Given the description of an element on the screen output the (x, y) to click on. 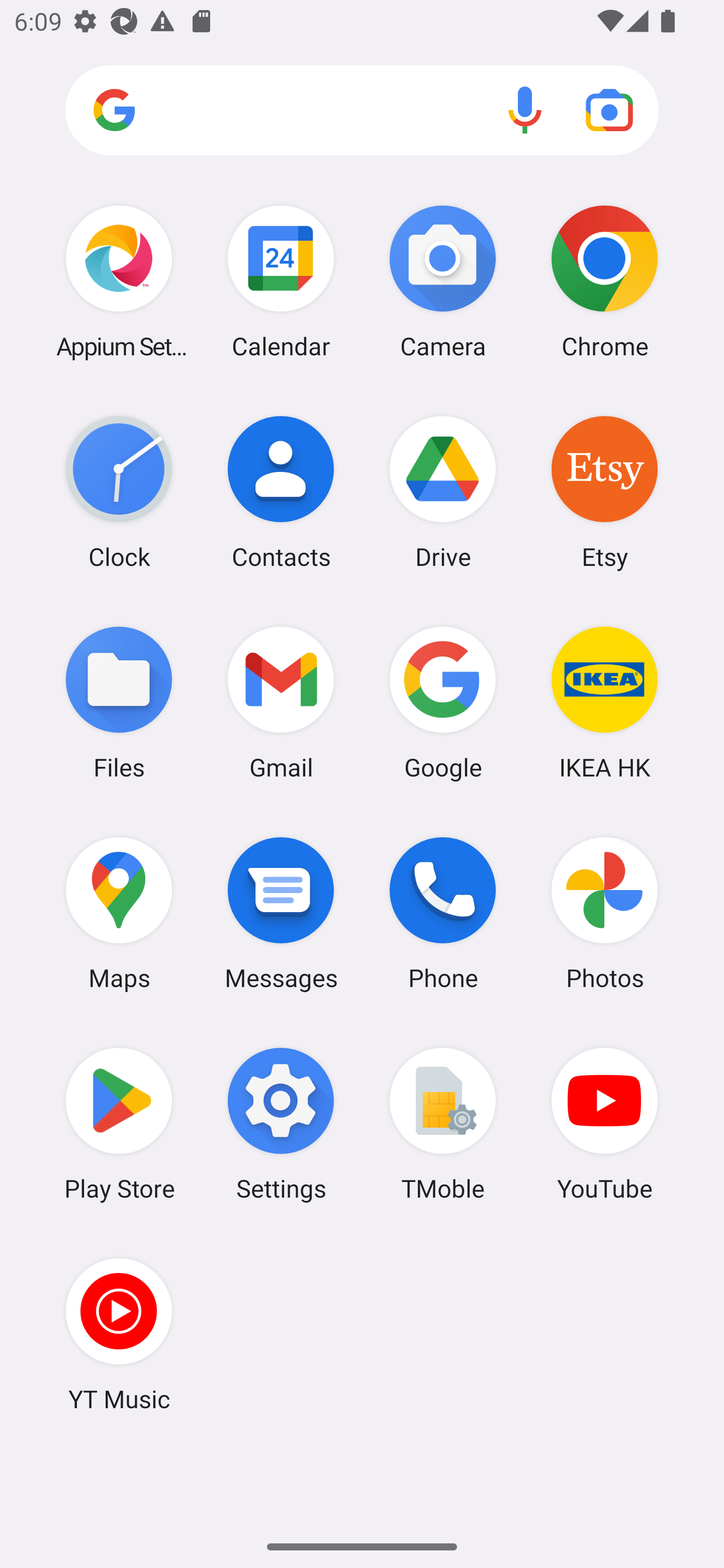
Search apps, web and more (361, 110)
Voice search (524, 109)
Google Lens (608, 109)
Appium Settings (118, 281)
Calendar (280, 281)
Camera (443, 281)
Chrome (604, 281)
Clock (118, 492)
Contacts (280, 492)
Drive (443, 492)
Etsy (604, 492)
Files (118, 702)
Gmail (280, 702)
Google (443, 702)
IKEA HK (604, 702)
Maps (118, 913)
Messages (280, 913)
Phone (443, 913)
Photos (604, 913)
Play Store (118, 1124)
Settings (280, 1124)
TMoble (443, 1124)
YouTube (604, 1124)
YT Music (118, 1334)
